Given the description of an element on the screen output the (x, y) to click on. 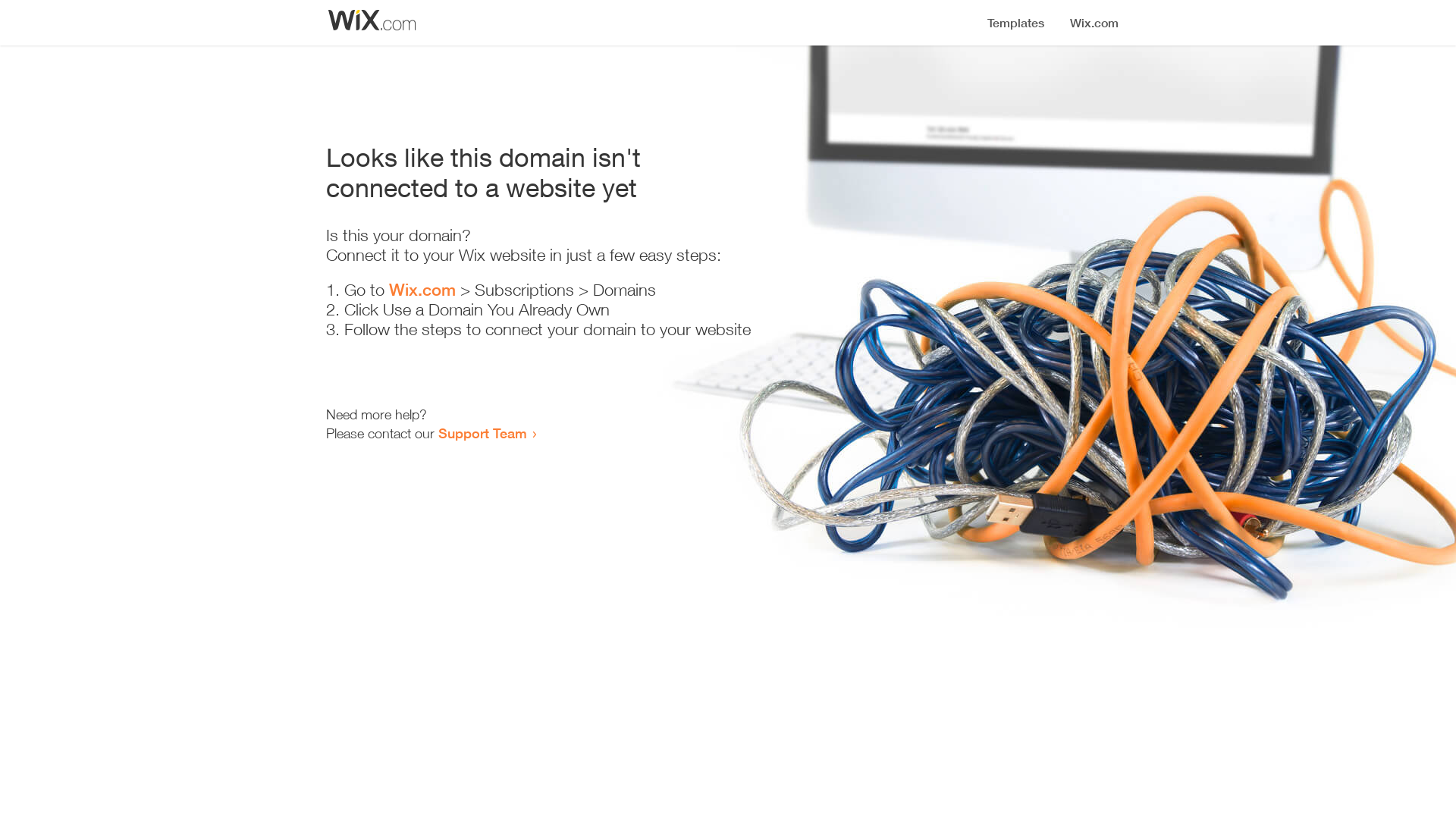
Wix.com Element type: text (422, 289)
Support Team Element type: text (482, 432)
